Given the description of an element on the screen output the (x, y) to click on. 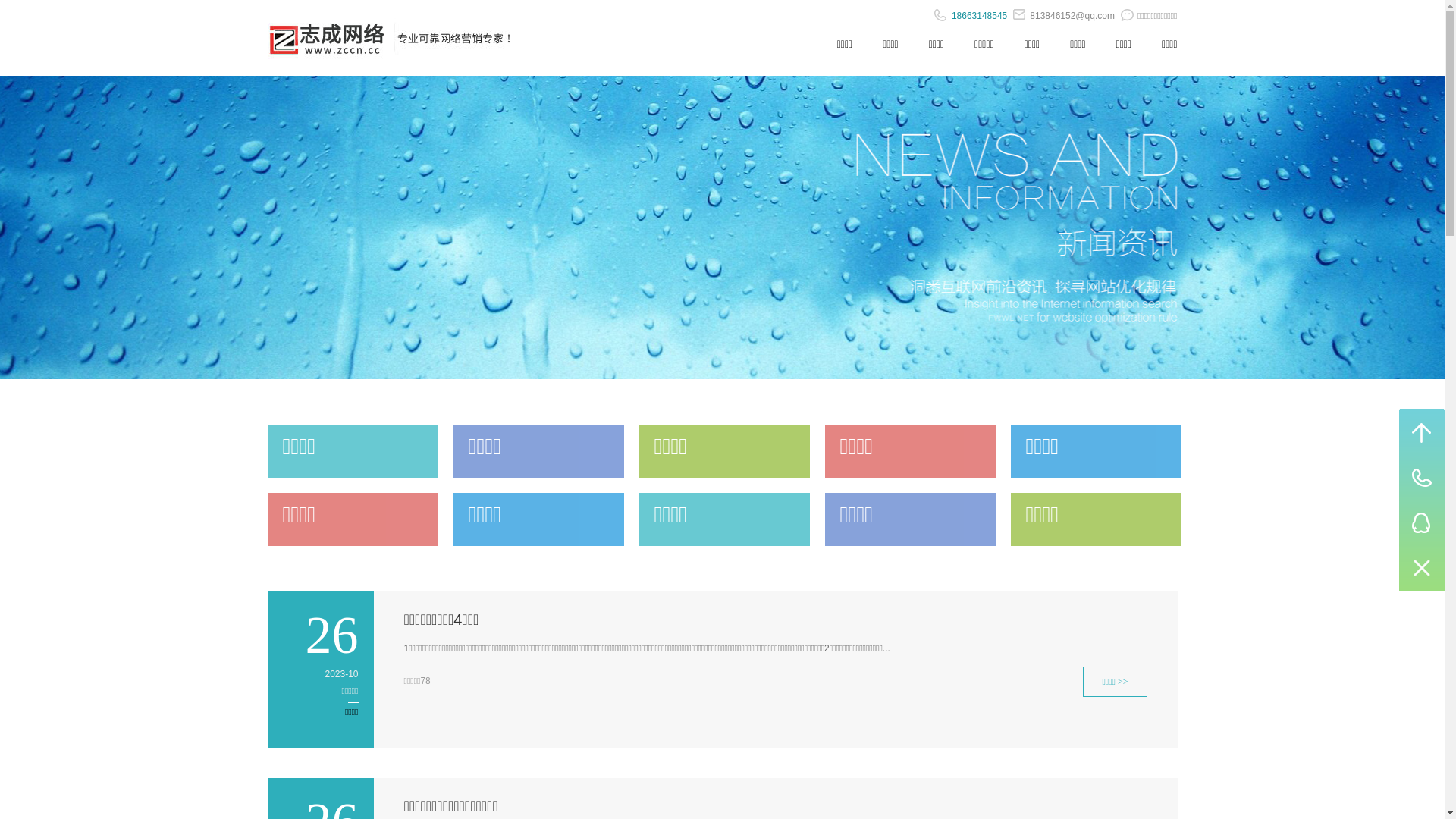
0 Element type: text (1421, 432)
0 Element type: text (1421, 568)
